Given the description of an element on the screen output the (x, y) to click on. 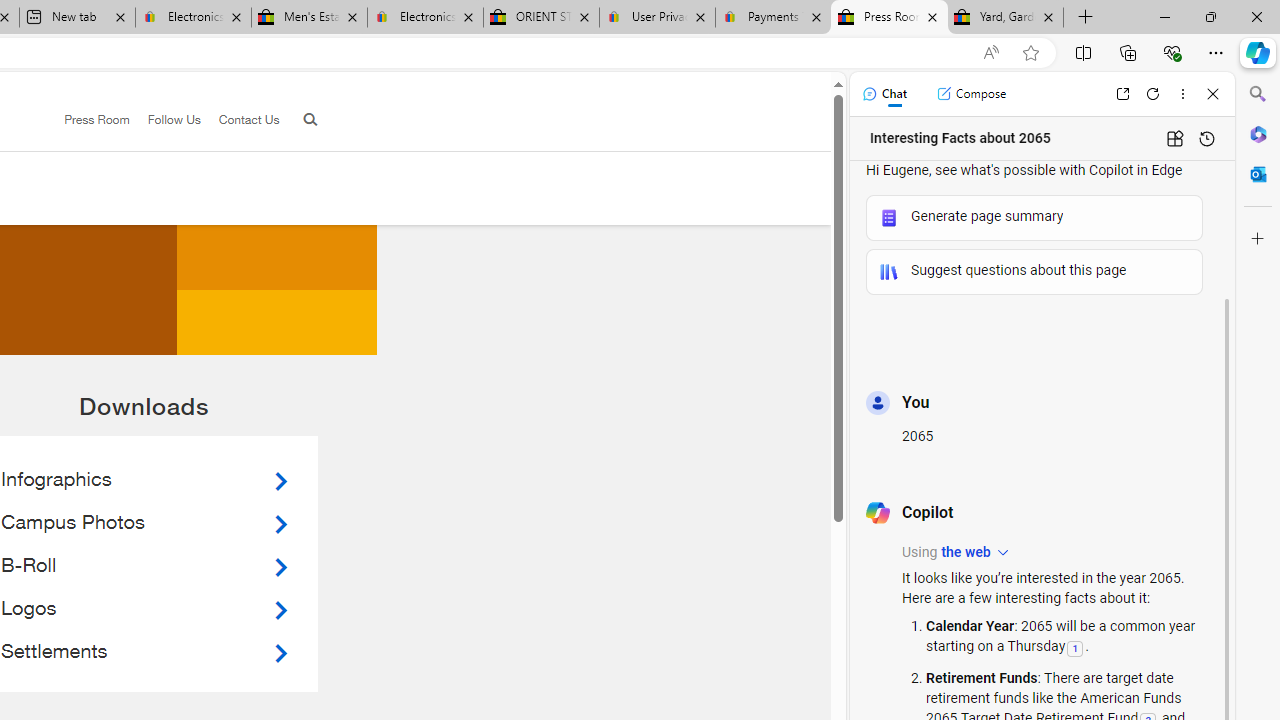
Contact Us (248, 119)
Contact Us (239, 120)
Follow Us (164, 120)
Press Room (97, 119)
